Given the description of an element on the screen output the (x, y) to click on. 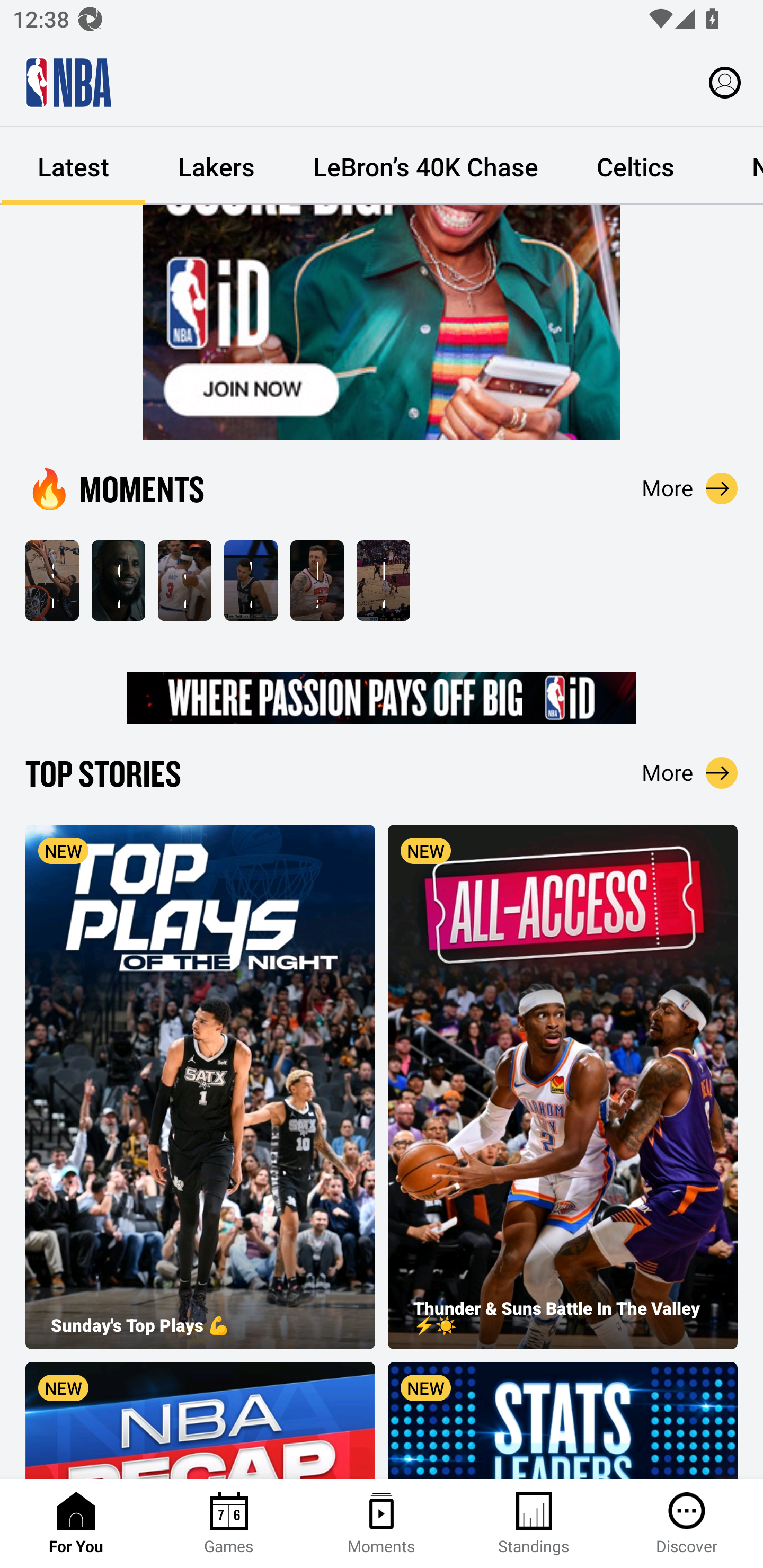
Profile (724, 81)
Lakers (215, 166)
LeBron’s 40K Chase (425, 166)
Celtics (634, 166)
More (689, 487)
Sunday's Top Plays In 30 Seconds ⏱ (51, 580)
Hartenstein Drops The Hammer 🔨 (317, 580)
More (689, 772)
NEW Sunday's Top Plays 💪 (200, 1086)
NEW Thunder & Suns Battle In The Valley ⚡☀ (562, 1086)
Games (228, 1523)
Moments (381, 1523)
Standings (533, 1523)
Discover (686, 1523)
